Given the description of an element on the screen output the (x, y) to click on. 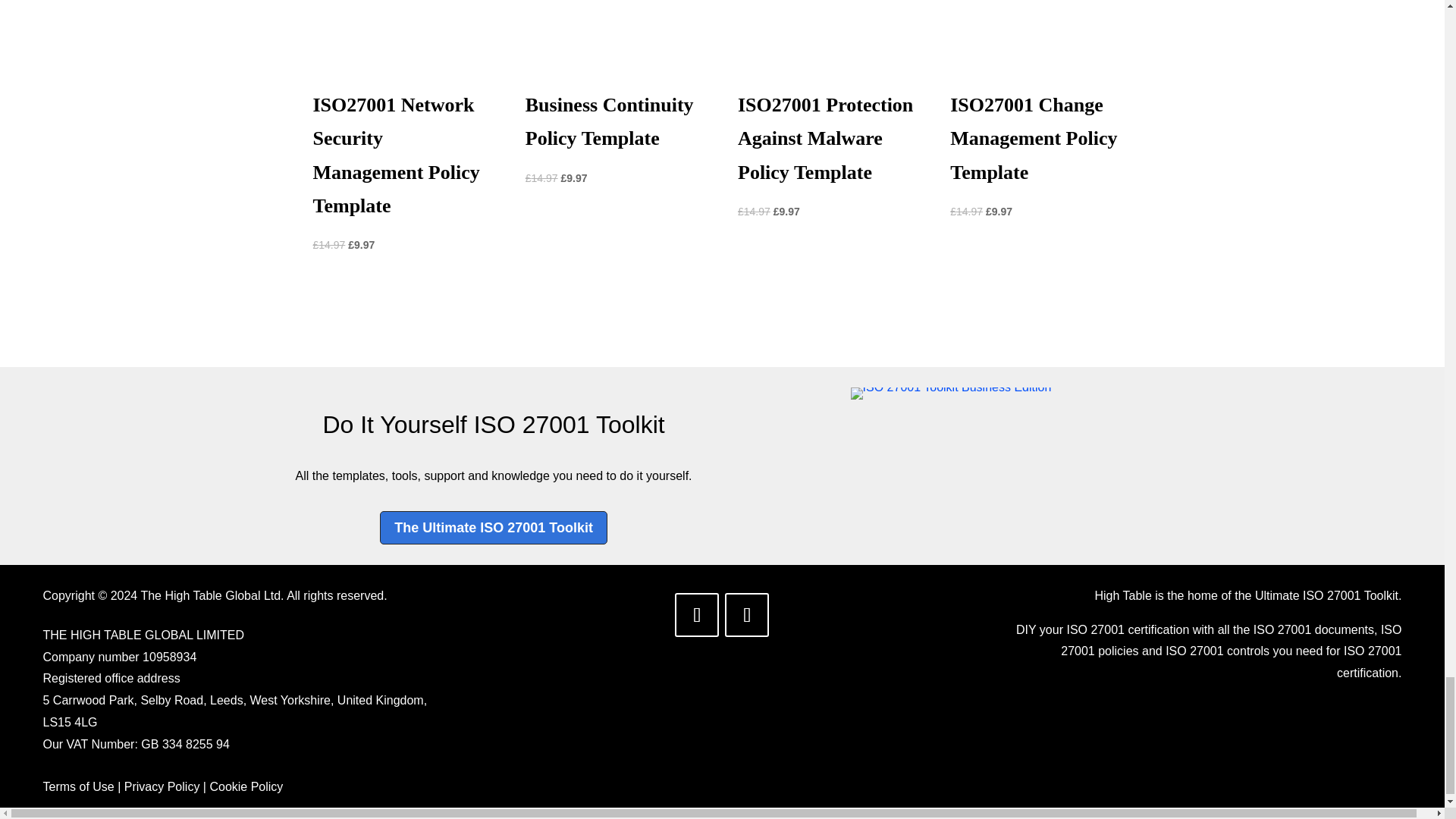
Follow on LinkedIn (697, 614)
ISO 27001 Toolkit Business Edition (950, 393)
The Ultimate ISO 27001 Toolkit (493, 527)
Follow on Instagram (746, 614)
